Given the description of an element on the screen output the (x, y) to click on. 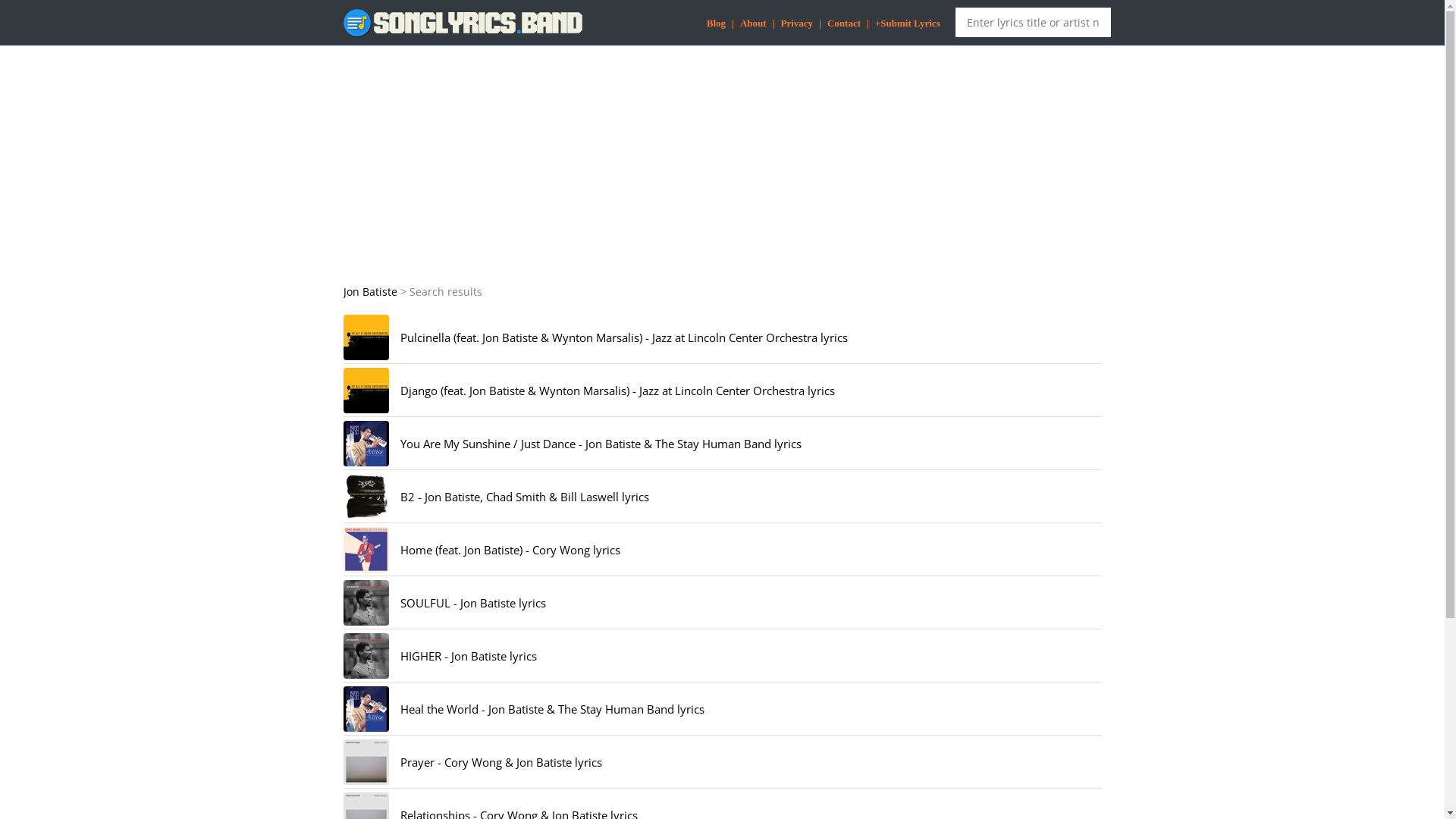
Advertisement Element type: hover (721, 162)
SOULFUL - Jon Batiste lyrics Element type: text (473, 602)
Prayer - Cory Wong & Jon Batiste lyrics Element type: text (501, 761)
HIGHER - Jon Batiste lyrics Element type: hover (365, 655)
Heal the World - Jon Batiste & The Stay Human Band lyrics Element type: text (552, 708)
Prayer - Cory Wong & Jon Batiste lyrics Element type: hover (365, 761)
B2 - Jon Batiste, Chad Smith & Bill Laswell lyrics Element type: text (524, 496)
HIGHER - Jon Batiste lyrics Element type: text (468, 655)
Blog Element type: text (715, 22)
Home (feat. Jon Batiste) - Cory Wong lyrics Element type: hover (365, 549)
SOULFUL - Jon Batiste lyrics Element type: hover (365, 602)
+Submit Lyrics Element type: text (907, 22)
B2 - Jon Batiste, Chad Smith & Bill Laswell lyrics Element type: hover (365, 496)
Heal the World - Jon Batiste & The Stay Human Band lyrics Element type: hover (365, 708)
Contact Element type: text (843, 22)
SongLyrics.band Element type: hover (462, 22)
About Element type: text (753, 22)
Privacy Element type: text (797, 22)
Home (feat. Jon Batiste) - Cory Wong lyrics Element type: text (510, 549)
